Given the description of an element on the screen output the (x, y) to click on. 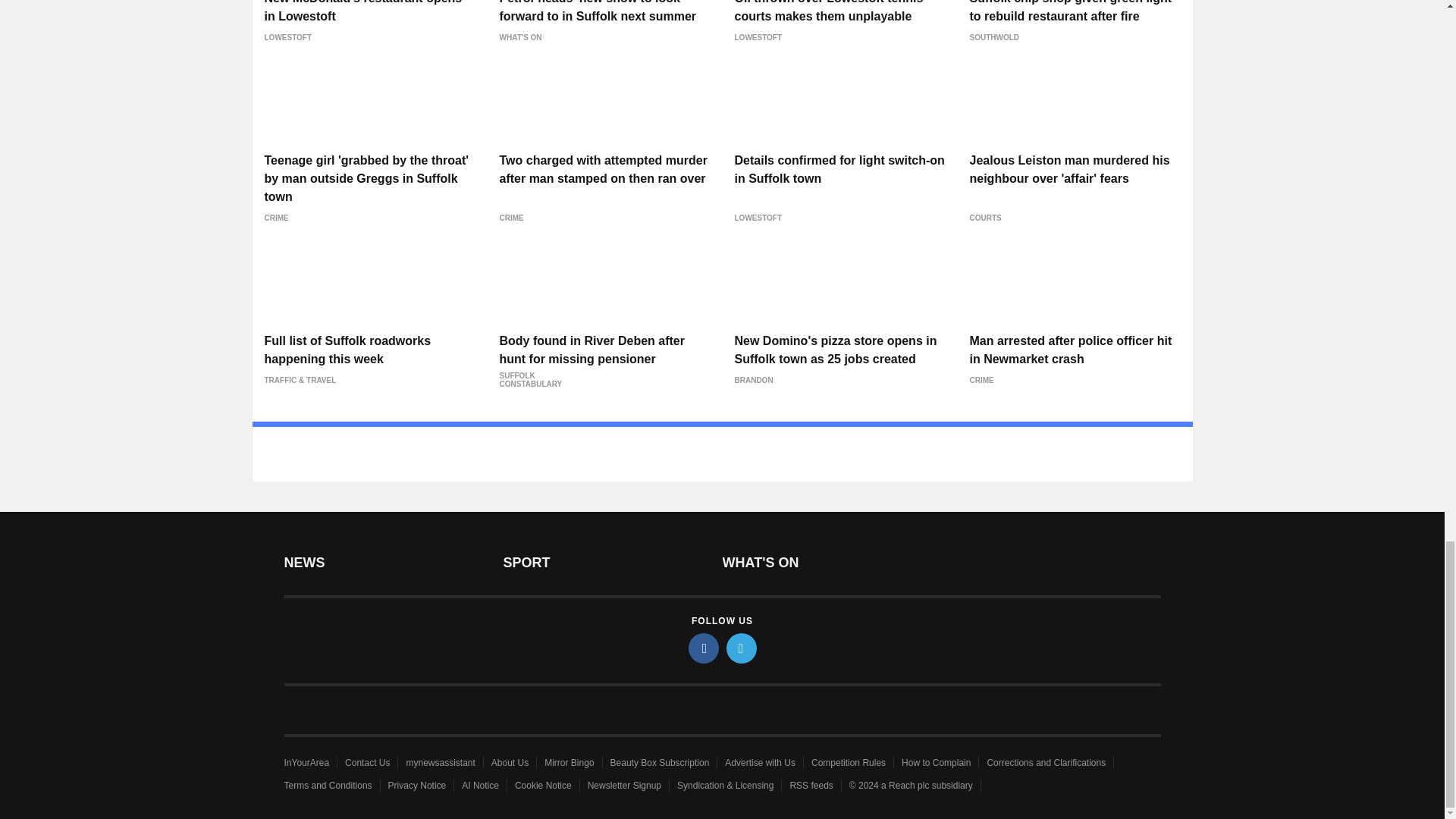
facebook (703, 648)
twitter (741, 648)
